Given the description of an element on the screen output the (x, y) to click on. 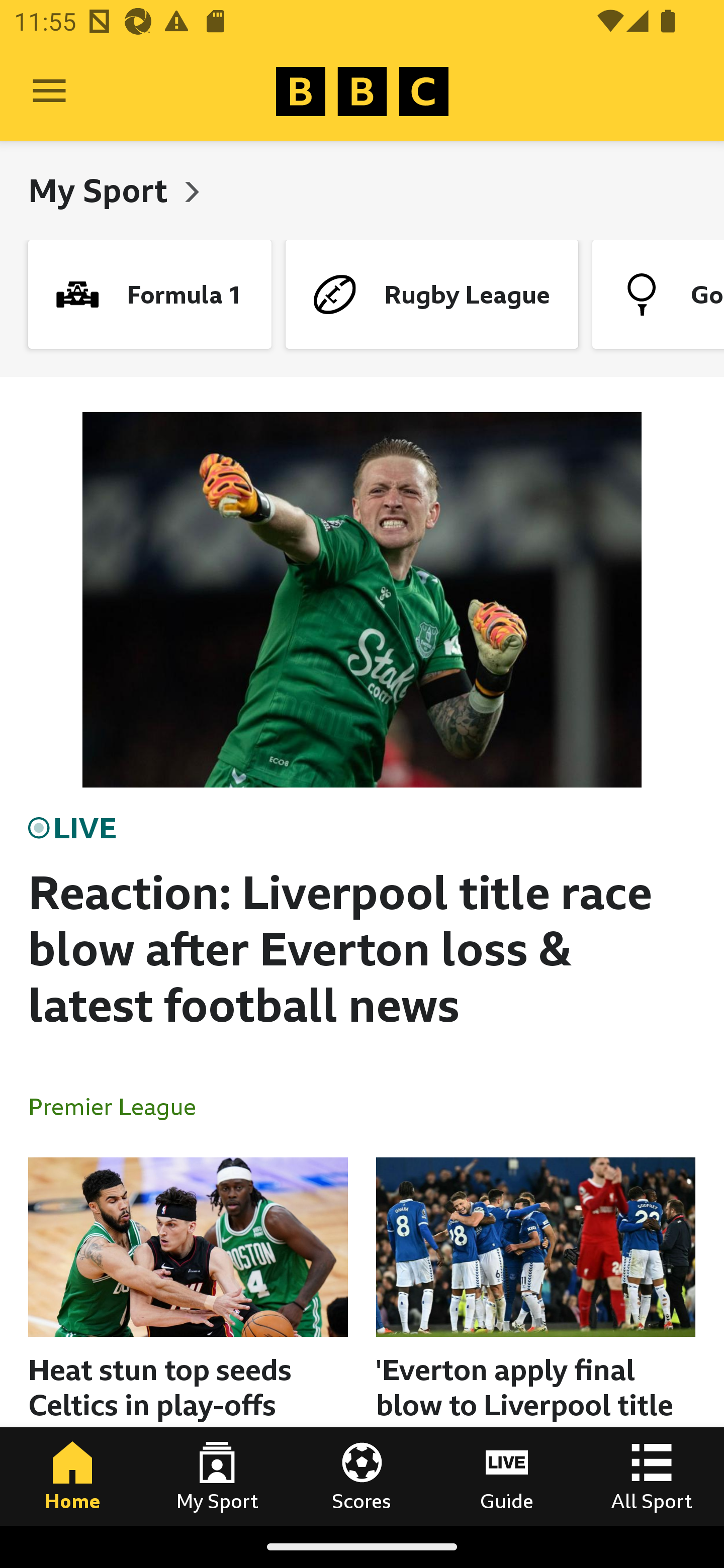
Open Menu (49, 91)
My Sport (101, 190)
Premier League In the section Premier League (119, 1106)
My Sport (216, 1475)
Scores (361, 1475)
Guide (506, 1475)
All Sport (651, 1475)
